Given the description of an element on the screen output the (x, y) to click on. 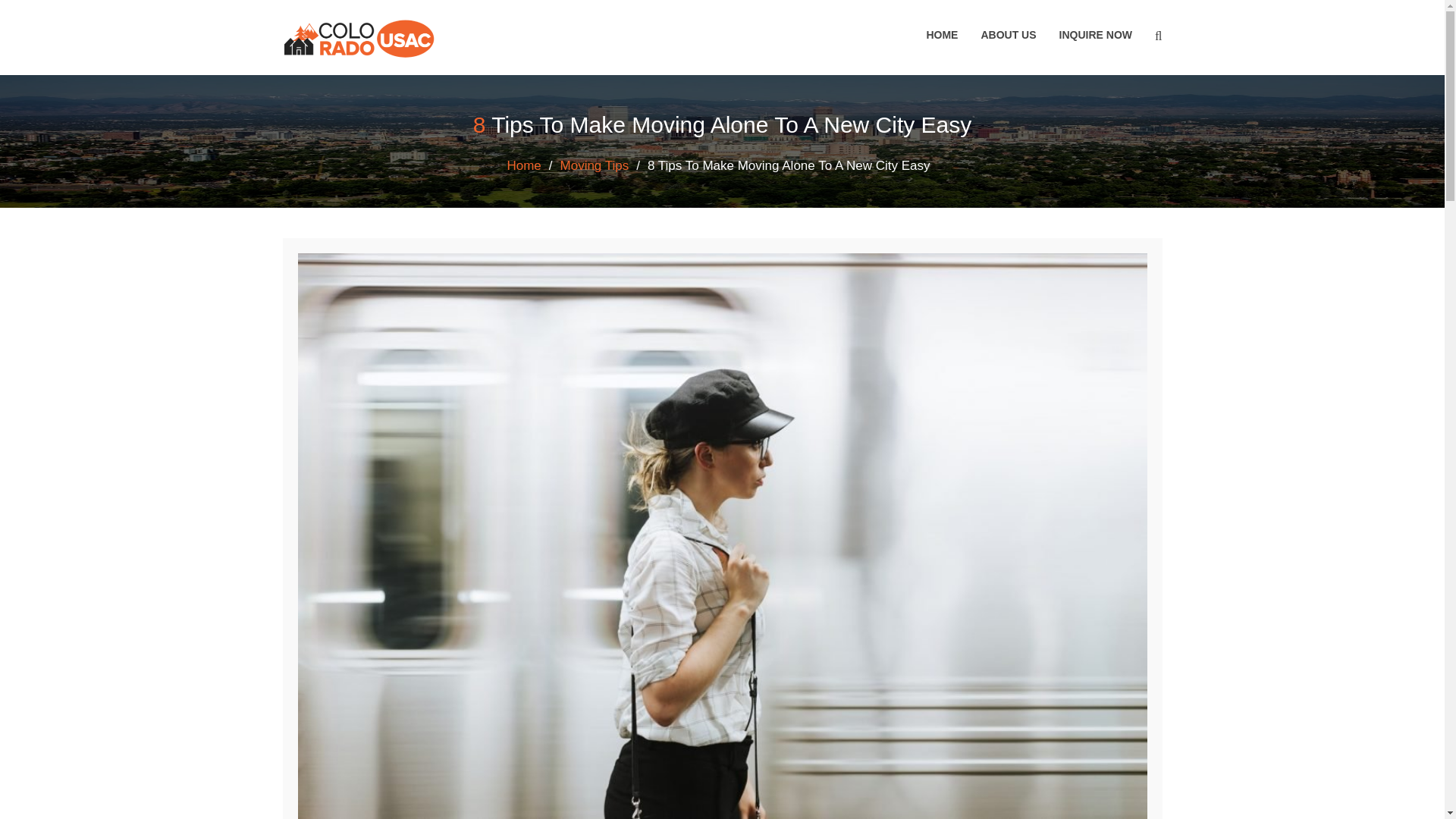
Moving Tips (594, 165)
Home (523, 165)
INQUIRE NOW (1095, 35)
HOME (941, 35)
ABOUT US (1007, 35)
